Given the description of an element on the screen output the (x, y) to click on. 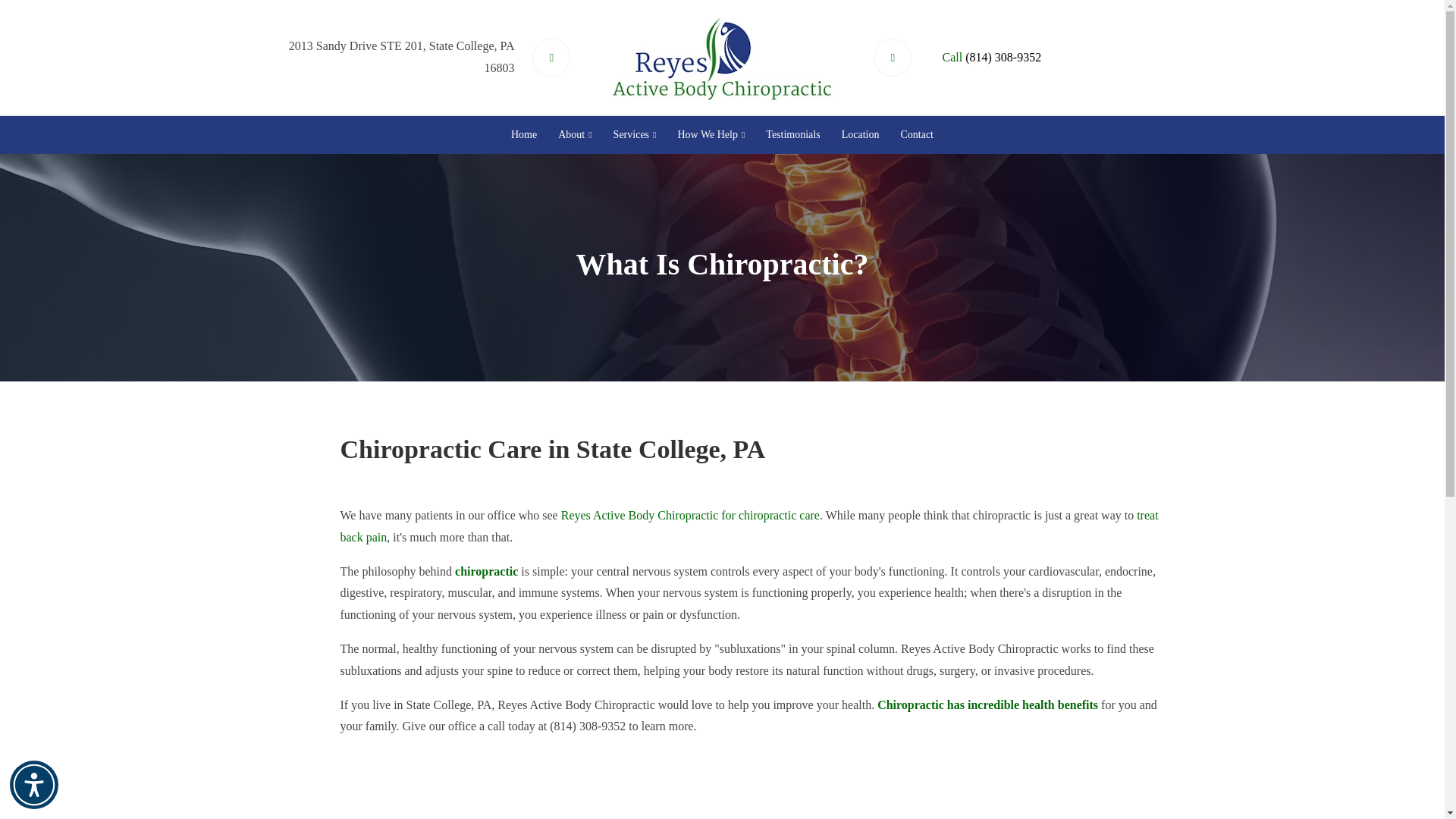
Testimonials (792, 134)
Location (860, 134)
State College, PA 16803 back pain treatment (748, 525)
Home (524, 134)
Services (634, 134)
Contact (916, 134)
State College, PA 16803 Chiropractor (689, 514)
How We Help (711, 134)
Reyes Active Body Chiropractic for chiropractic care (689, 514)
About (573, 134)
Accessibility Menu (34, 784)
Chiropractor State College, PA 16803 (987, 704)
